Given the description of an element on the screen output the (x, y) to click on. 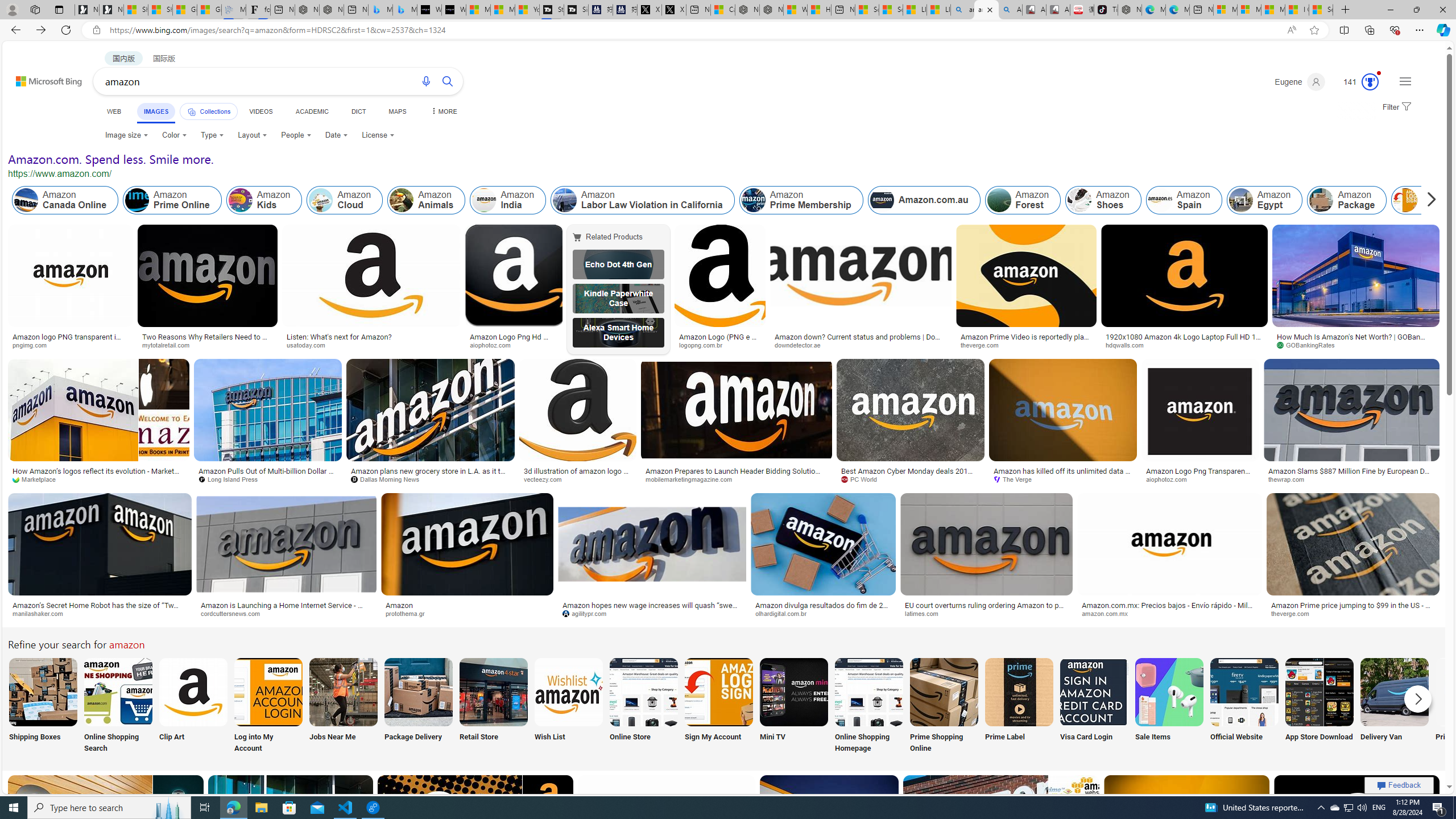
hdqwalls.com (1128, 344)
Amazon Shoes (1079, 200)
People (295, 135)
Amazon Shoes (1103, 199)
Amazon (399, 605)
Amazon.com.au (881, 200)
MORE (443, 111)
Clip Art (192, 706)
